Given the description of an element on the screen output the (x, y) to click on. 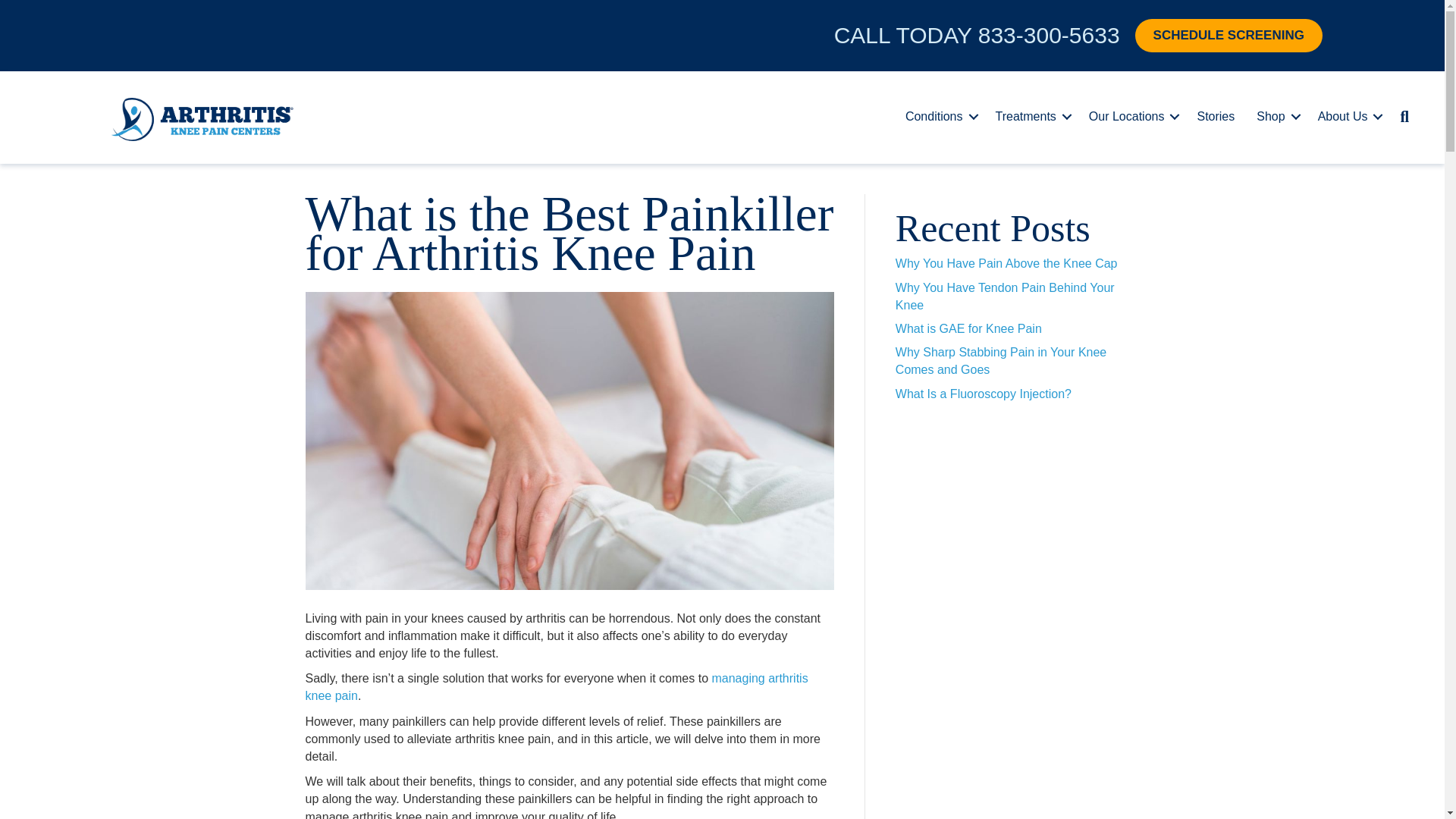
Our Locations (1132, 116)
833-300-5633 (1048, 34)
Treatments (1031, 116)
Conditions (939, 116)
SCHEDULE SCREENING (1228, 35)
